Given the description of an element on the screen output the (x, y) to click on. 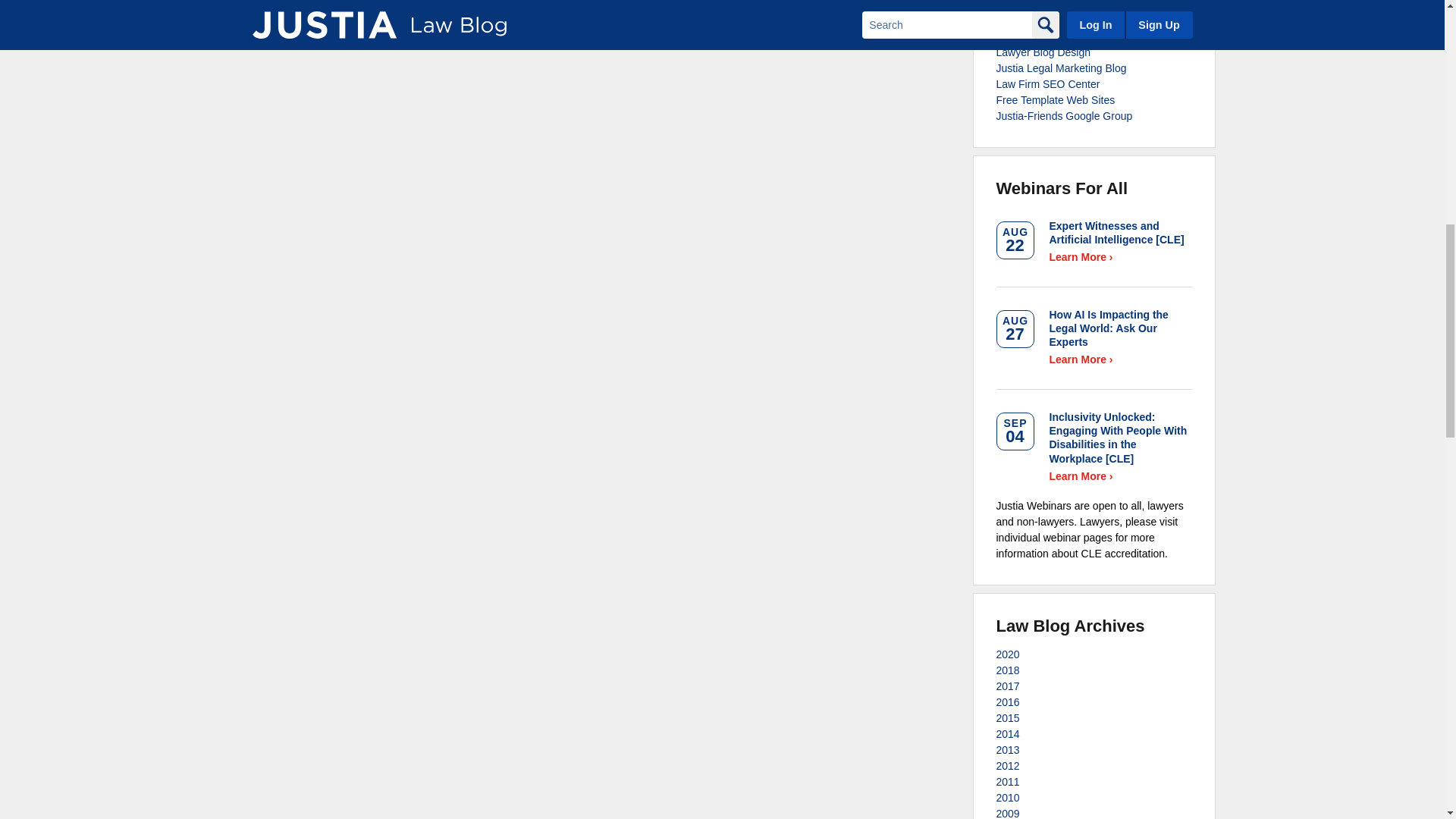
Year 2011 archives (1007, 781)
Year 2017 archives (1007, 686)
Year 2009 archives (1007, 813)
Year 2013 archives (1007, 749)
Year 2016 archives (1007, 702)
Year 2020 archives (1007, 654)
Year 2012 archives (1007, 766)
Year 2010 archives (1007, 797)
Year 2018 archives (1007, 670)
Year 2015 archives (1007, 717)
